Given the description of an element on the screen output the (x, y) to click on. 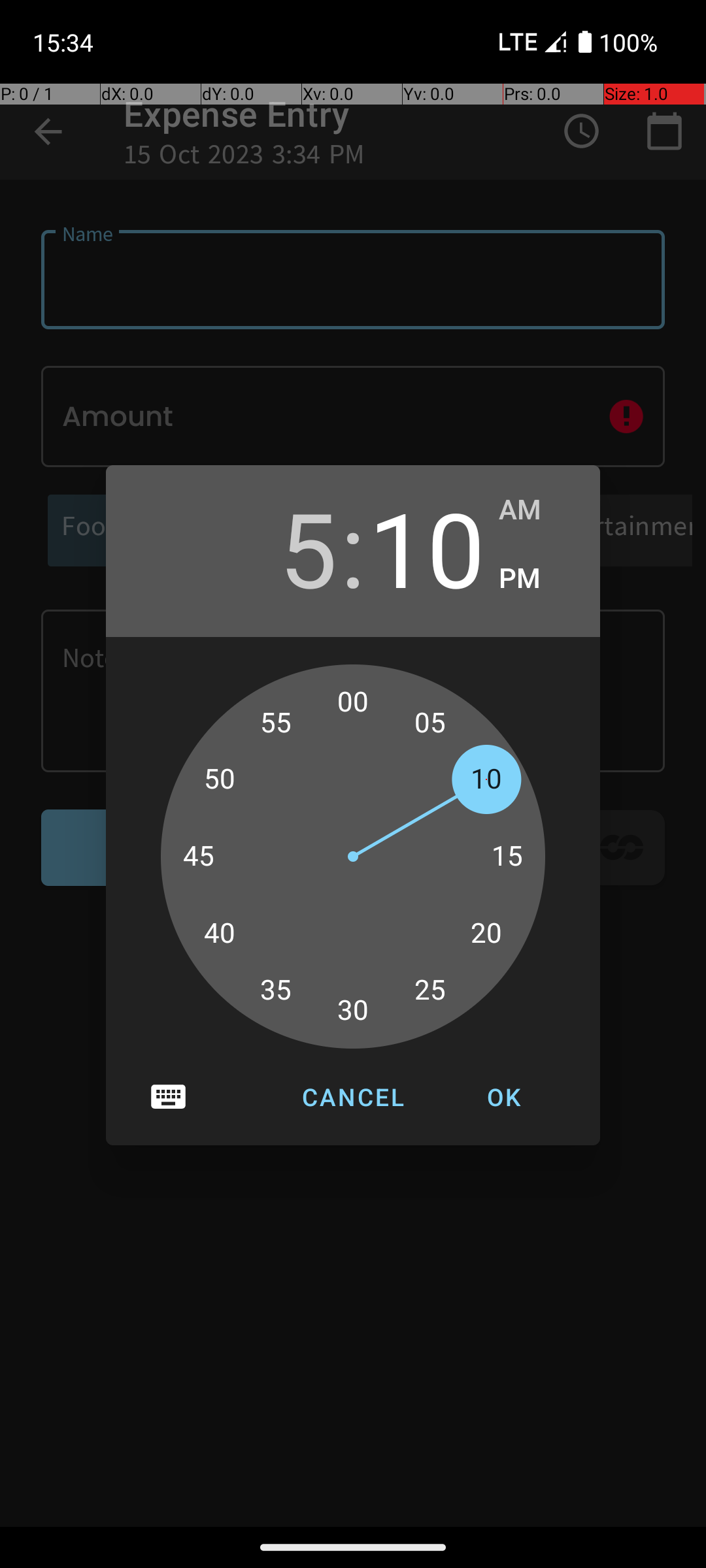
34 Element type: android.widget.RadialTimePickerView$RadialPickerTouchHelper (289, 996)
